Given the description of an element on the screen output the (x, y) to click on. 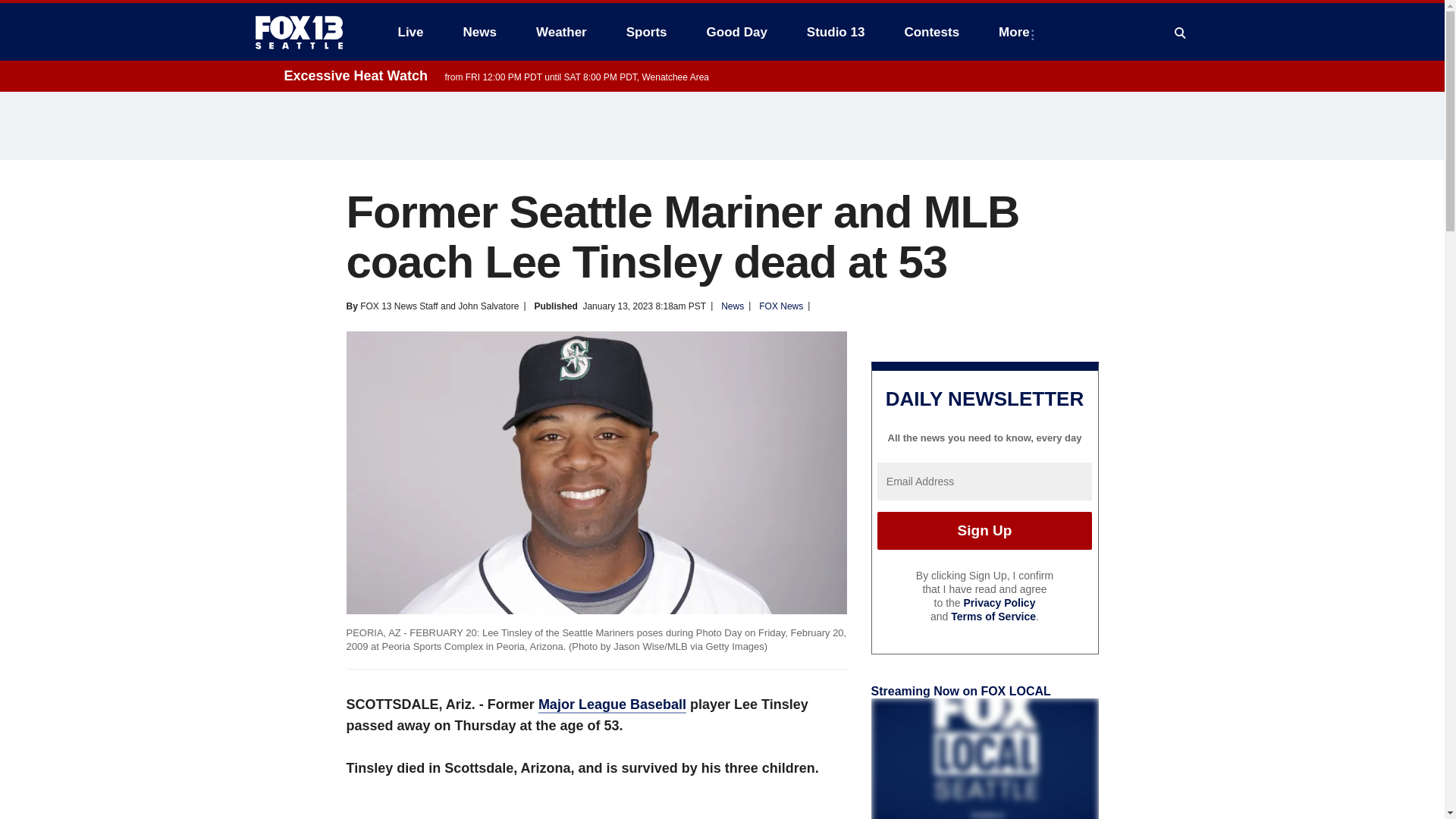
Good Day (736, 32)
Contests (931, 32)
Weather (561, 32)
Live (410, 32)
Sports (646, 32)
Sign Up (984, 530)
Studio 13 (835, 32)
More (1017, 32)
News (479, 32)
